Given the description of an element on the screen output the (x, y) to click on. 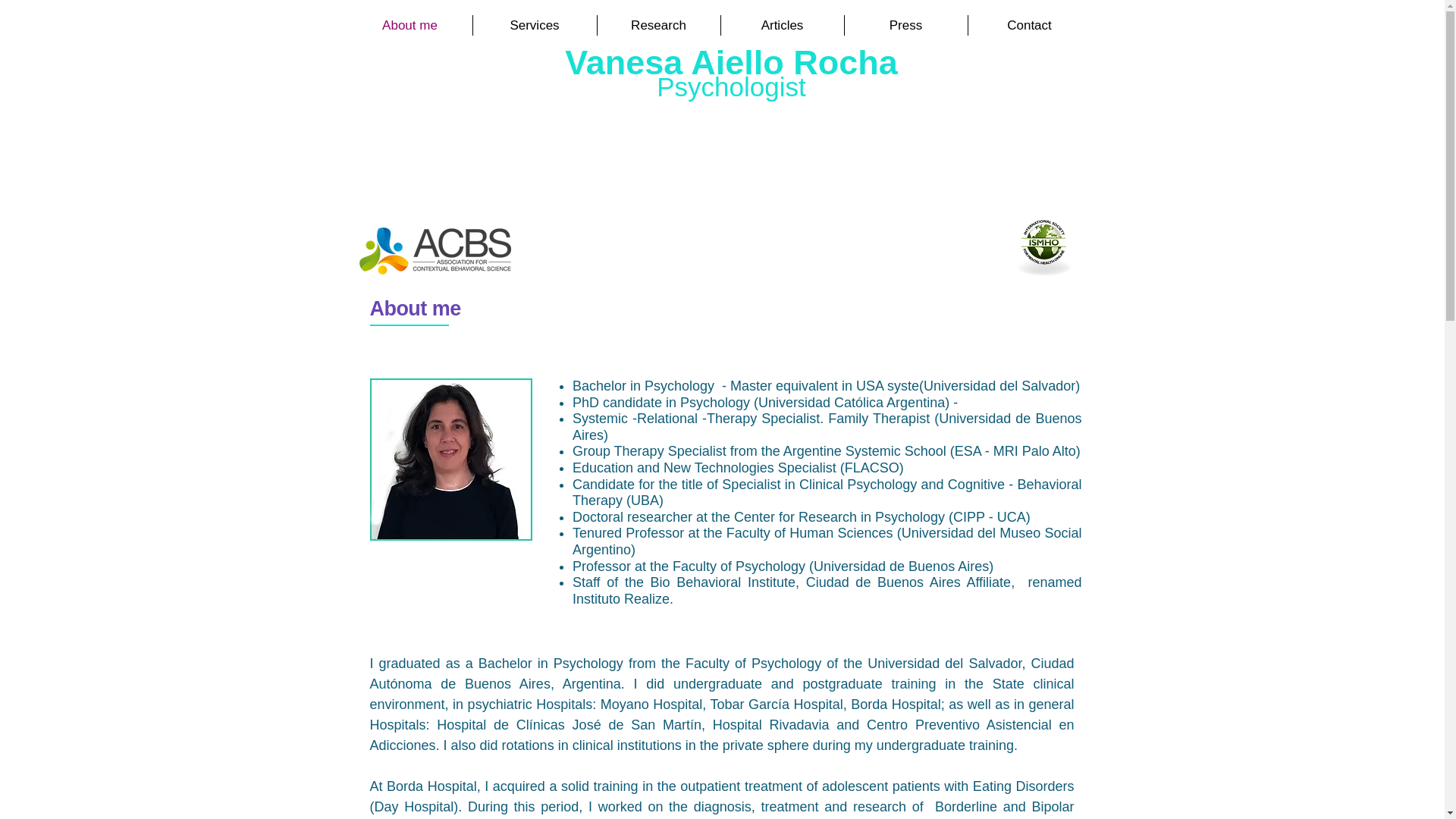
About me (409, 25)
Contact (1029, 25)
Services (534, 25)
Articles (781, 25)
Research (658, 25)
Press (906, 25)
ACBSlogo.png (435, 250)
